Given the description of an element on the screen output the (x, y) to click on. 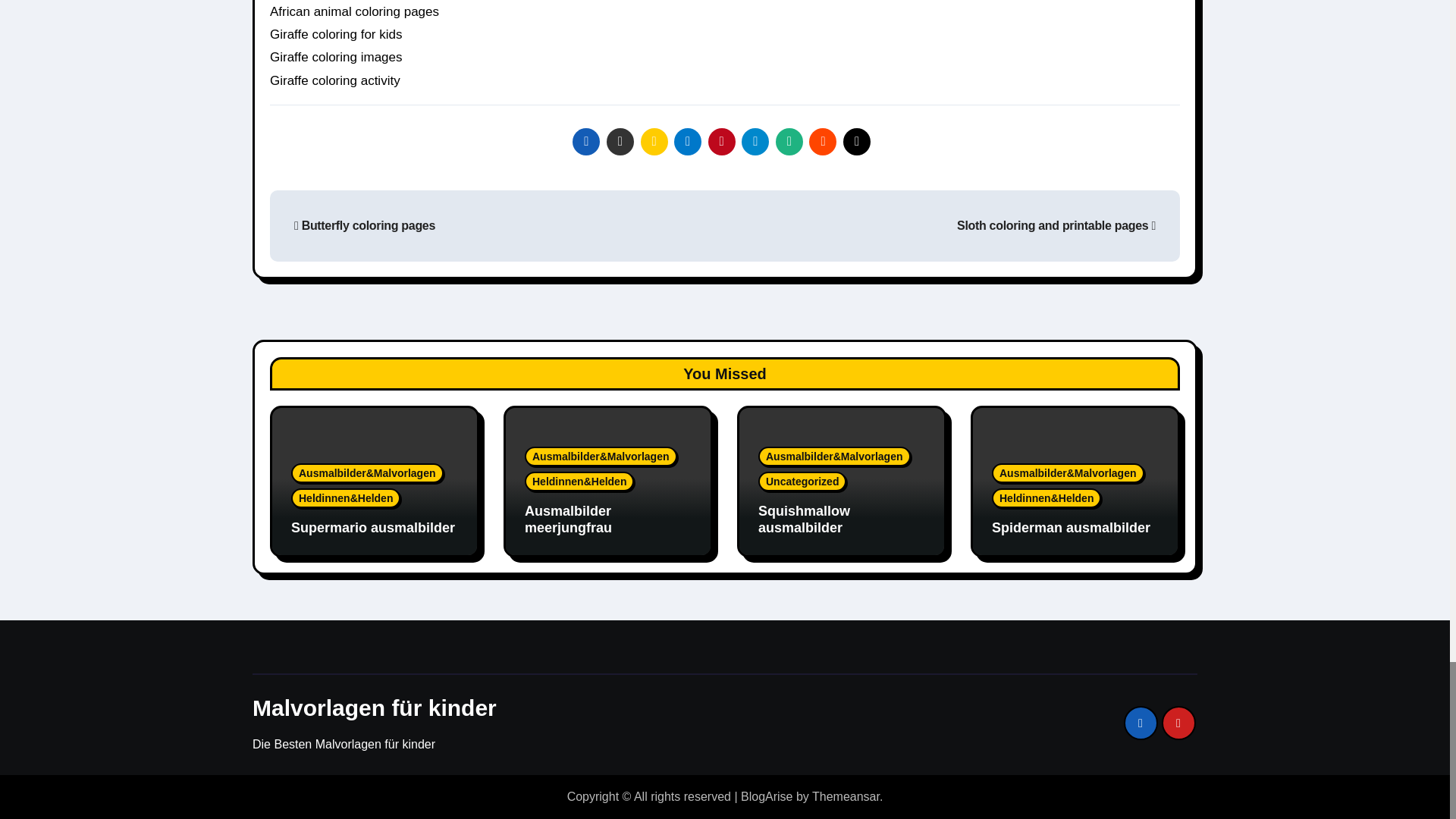
Supermario ausmalbilder (372, 527)
Ausmalbilder meerjungfrau (567, 519)
Butterfly coloring pages (364, 225)
Permalink to: Ausmalbilder meerjungfrau (567, 519)
Sloth coloring and printable pages (1056, 225)
Permalink to: Spiderman ausmalbilder (1070, 527)
Permalink to: Squishmallow ausmalbilder (804, 519)
Permalink to: Supermario ausmalbilder (372, 527)
